Given the description of an element on the screen output the (x, y) to click on. 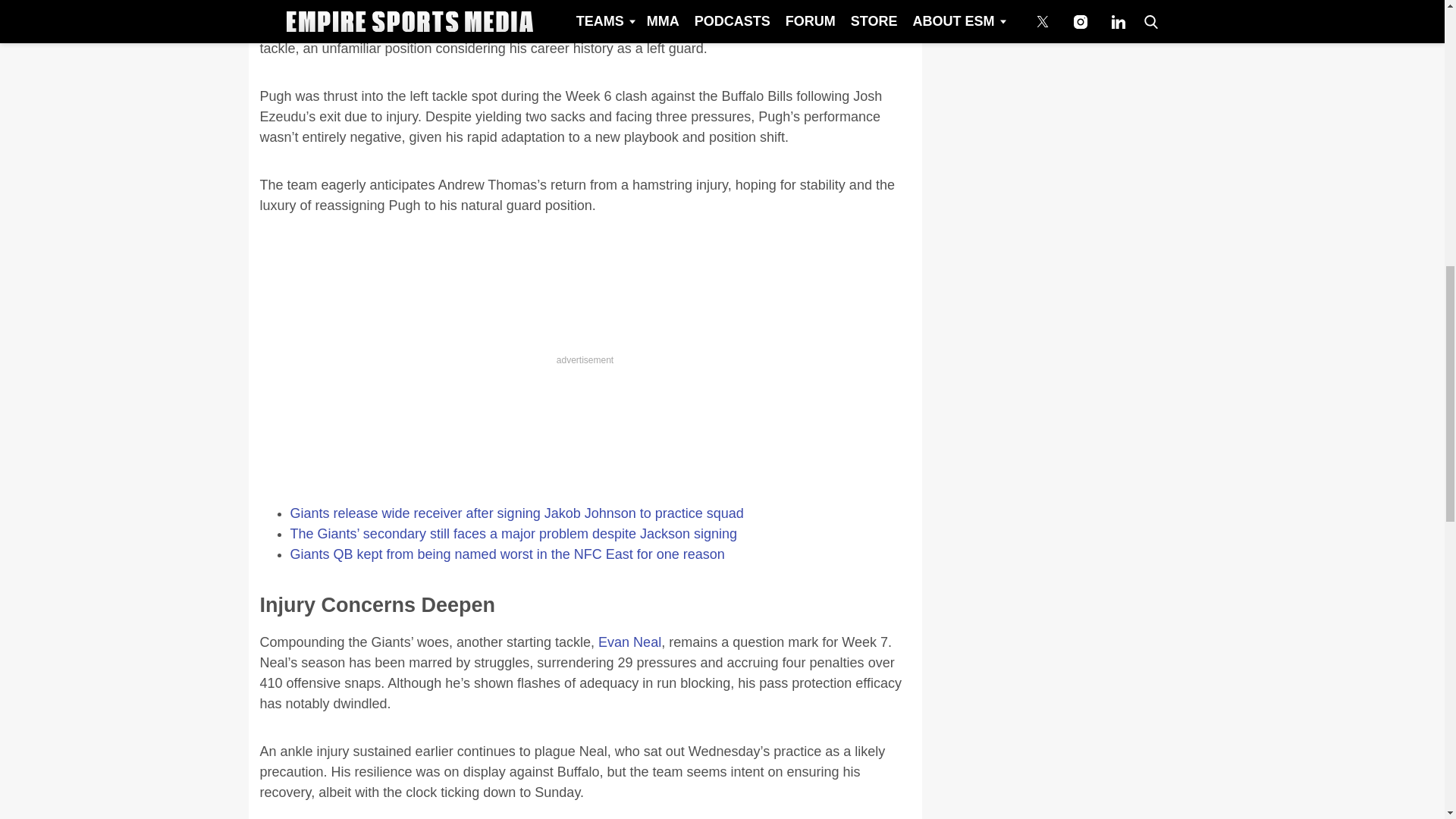
Evan Neal (629, 642)
recent signee Justin Pugh (678, 28)
